Given the description of an element on the screen output the (x, y) to click on. 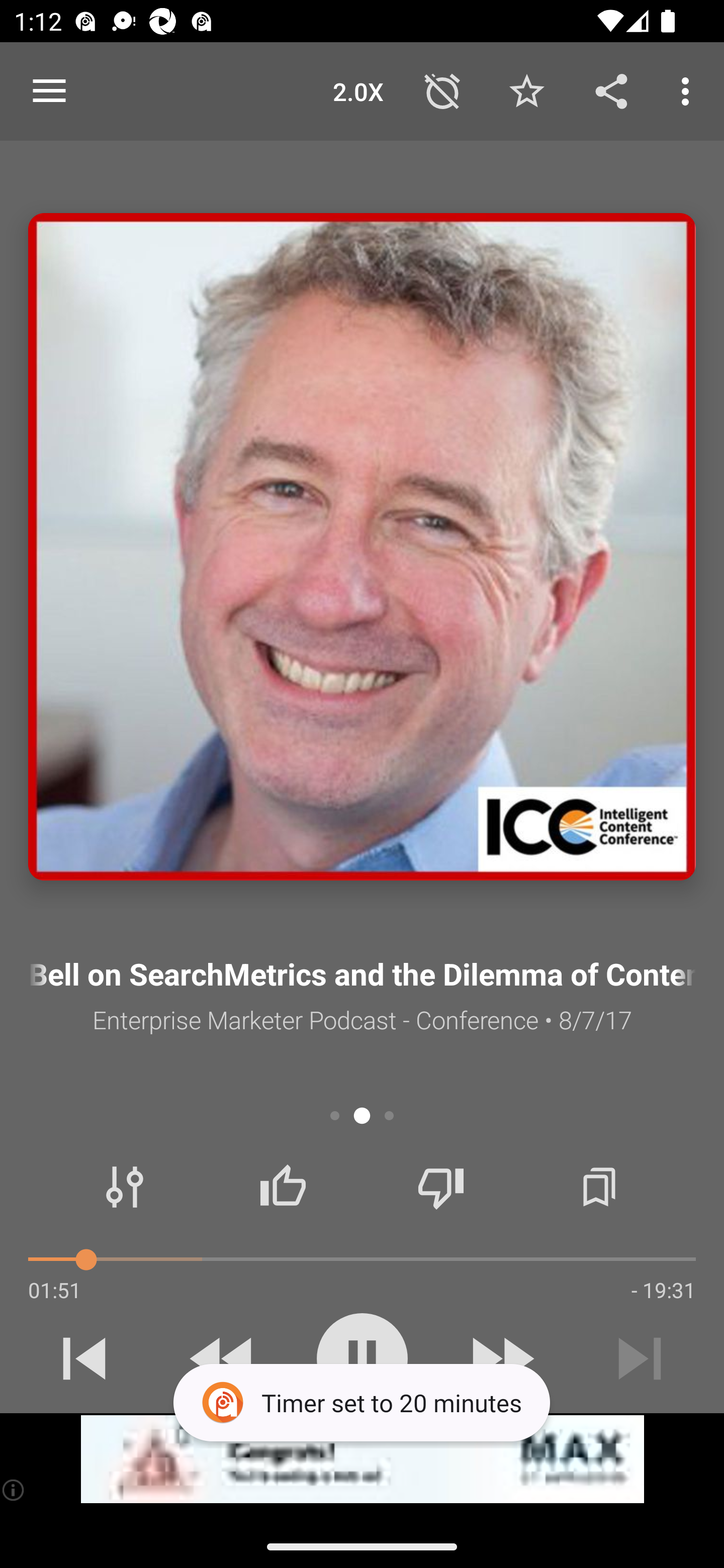
Open navigation sidebar (49, 91)
2.0X (357, 90)
Sleep Timer (442, 90)
Favorite (526, 90)
Share (611, 90)
More options (688, 90)
Episode description (361, 547)
Audio effects (124, 1186)
Thumbs up (283, 1186)
Thumbs down (440, 1186)
Chapters / Bookmarks (598, 1186)
- 19:31 (663, 1289)
Previous track (84, 1358)
Next track (639, 1358)
app-monetization (362, 1459)
(i) (14, 1489)
